Given the description of an element on the screen output the (x, y) to click on. 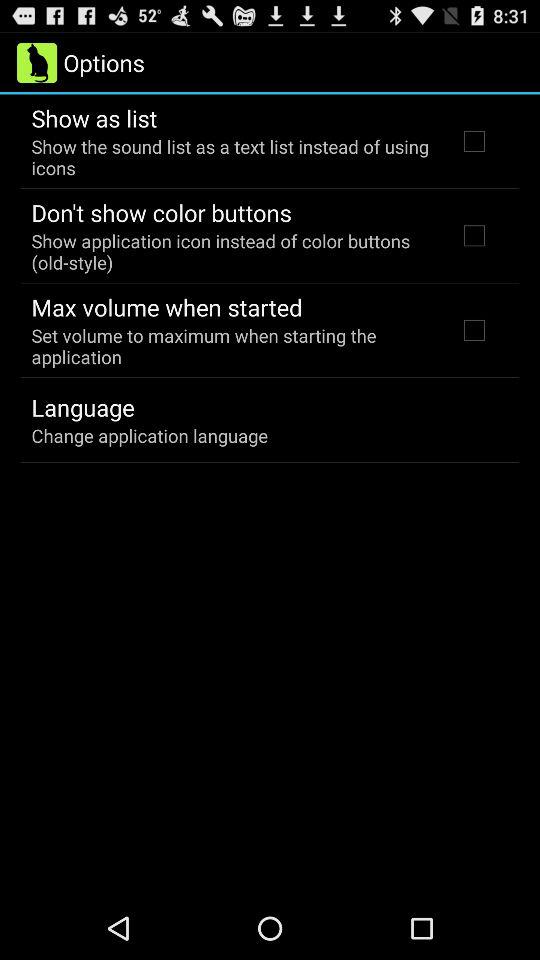
click don t show icon (161, 212)
